Given the description of an element on the screen output the (x, y) to click on. 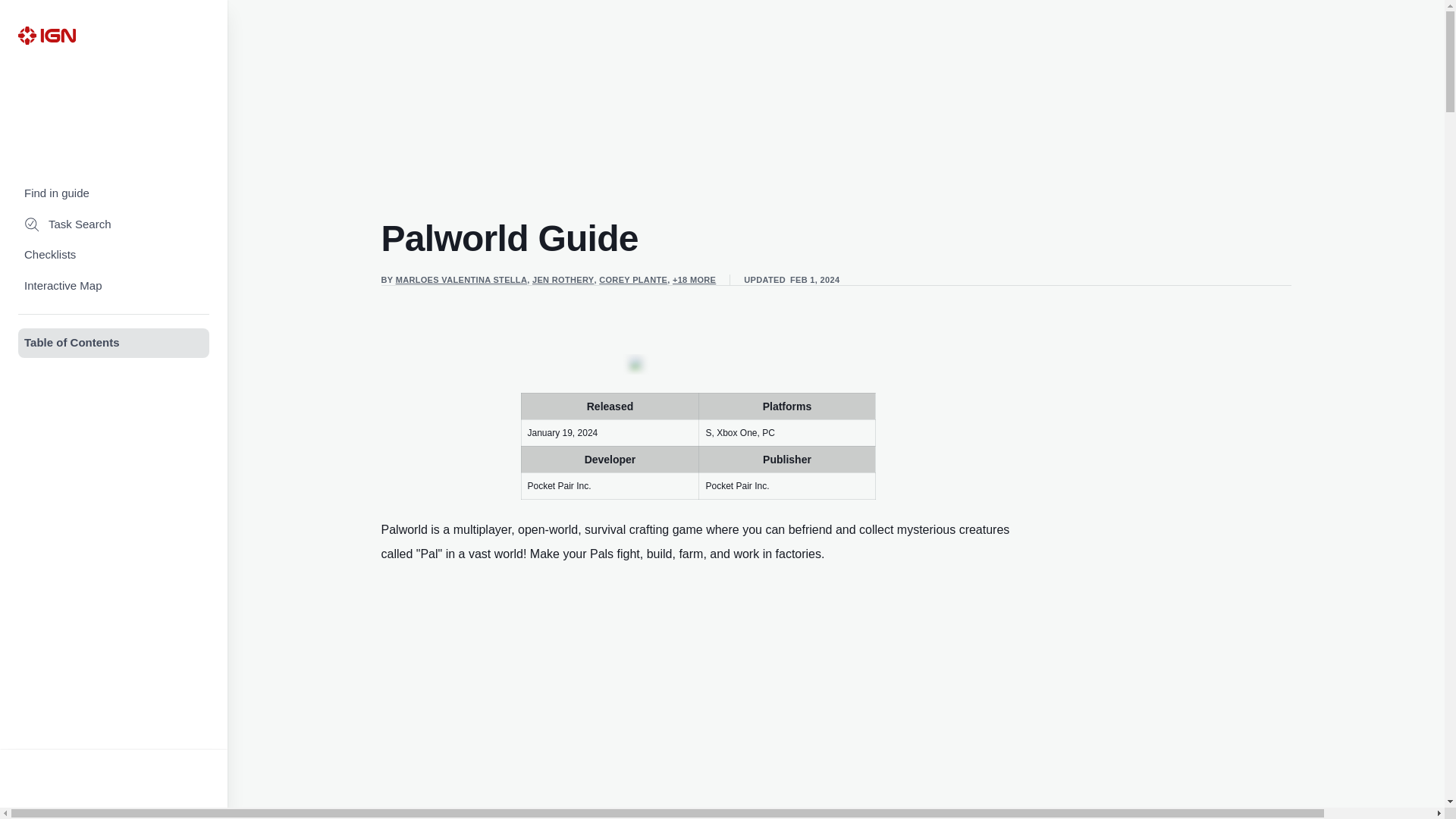
Checklists (113, 255)
Task Search (113, 224)
Task Search (113, 224)
IGN (46, 35)
Checklists (113, 255)
Interactive Map (113, 286)
Table of Contents (113, 342)
Table of Contents (113, 342)
Find in guide (113, 193)
IGN Logo (46, 34)
